Given the description of an element on the screen output the (x, y) to click on. 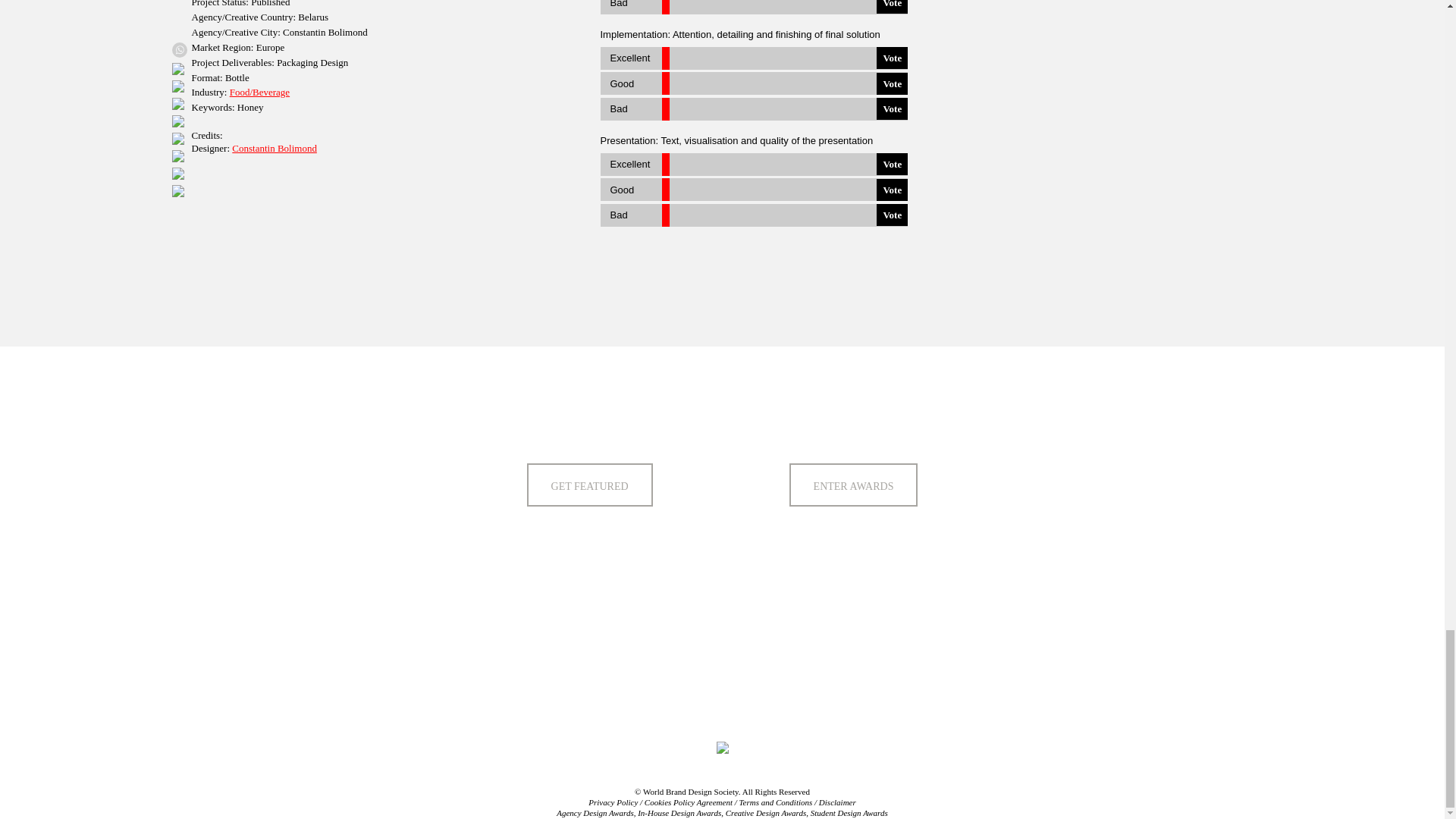
Constantin Bolimond (274, 147)
